Given the description of an element on the screen output the (x, y) to click on. 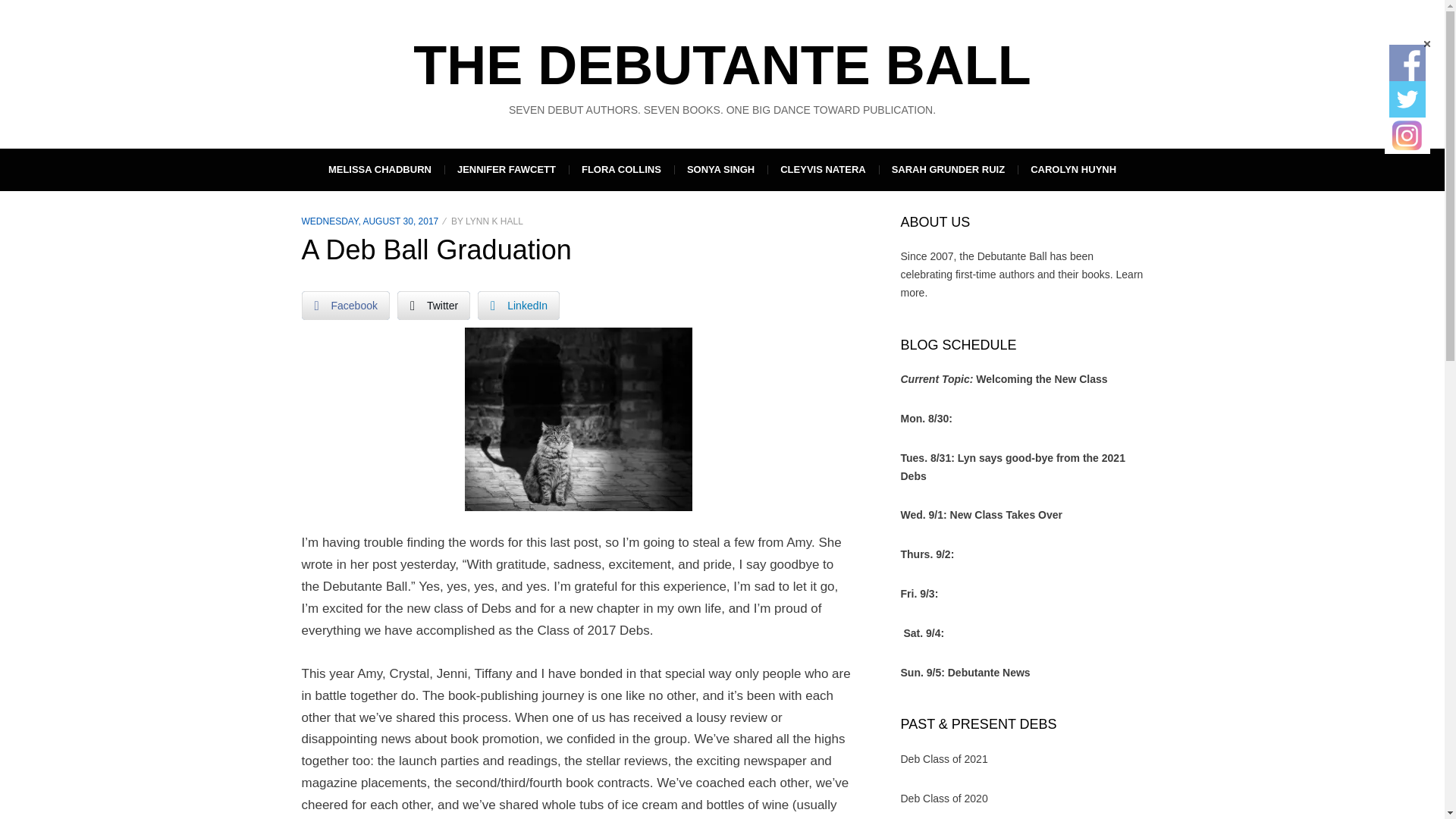
Twitter (433, 305)
CAROLYN HUYNH (1073, 169)
View Our Twitter Feed (1407, 99)
Visit Our Facebook Page (1407, 63)
MELISSA CHADBURN (379, 169)
JENNIFER FAWCETT (506, 169)
Facebook (345, 305)
CLEYVIS NATERA (822, 169)
WEDNESDAY, AUGUST 30, 2017 (370, 221)
SONYA SINGH (720, 169)
